Given the description of an element on the screen output the (x, y) to click on. 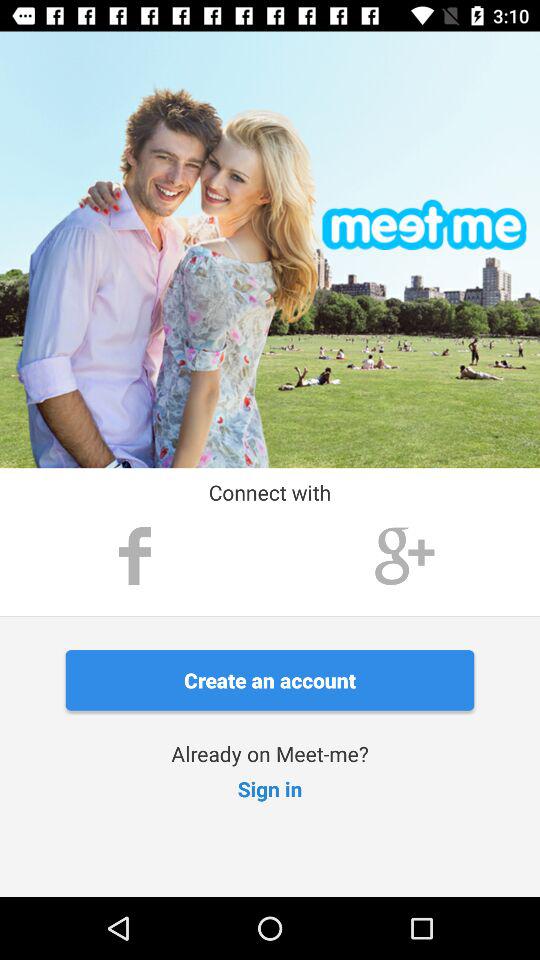
click the create an account icon (269, 680)
